Given the description of an element on the screen output the (x, y) to click on. 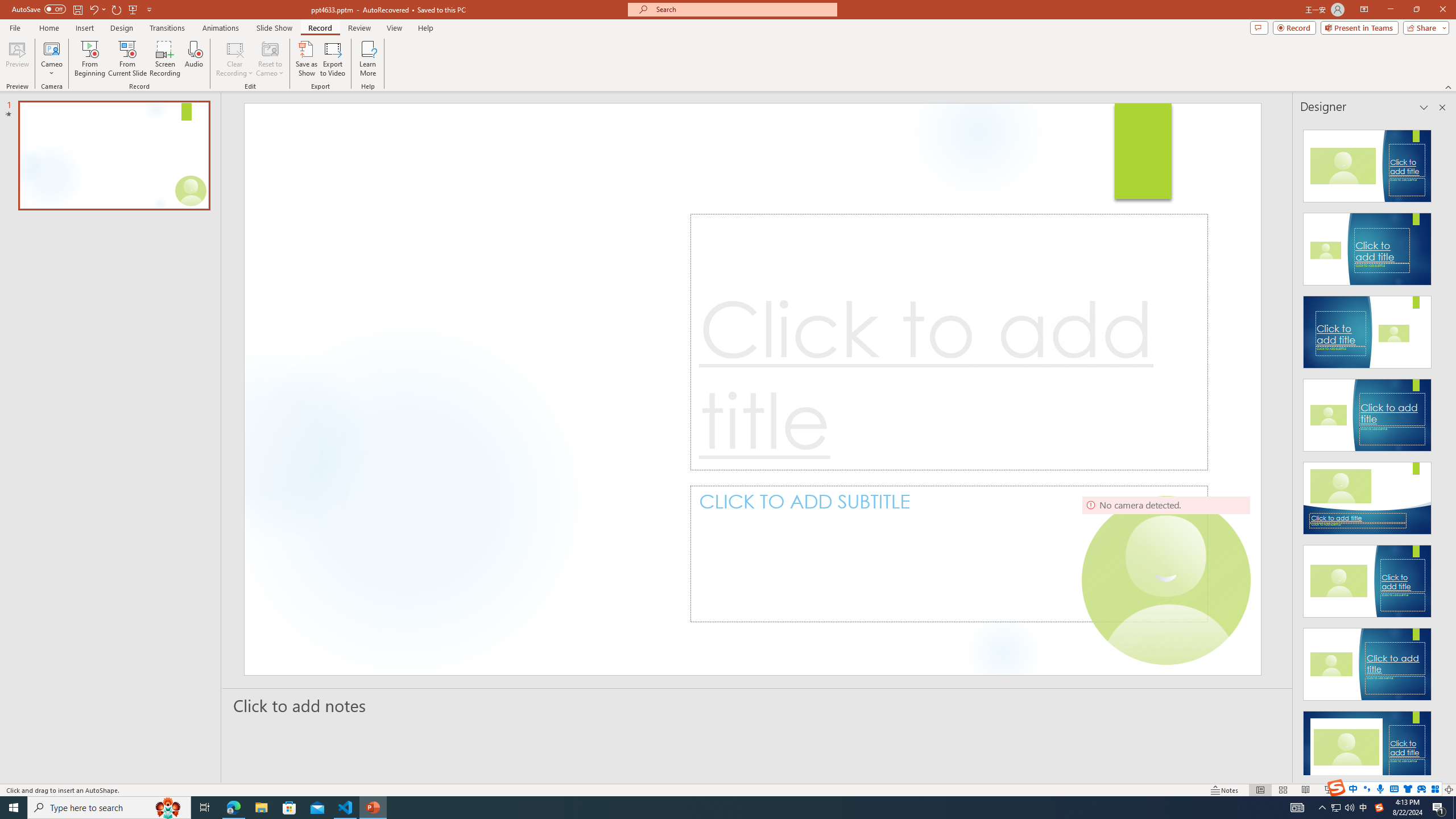
From Current Slide... (127, 58)
Class: NetUIScrollBar (1441, 447)
Screen Recording (165, 58)
